Given the description of an element on the screen output the (x, y) to click on. 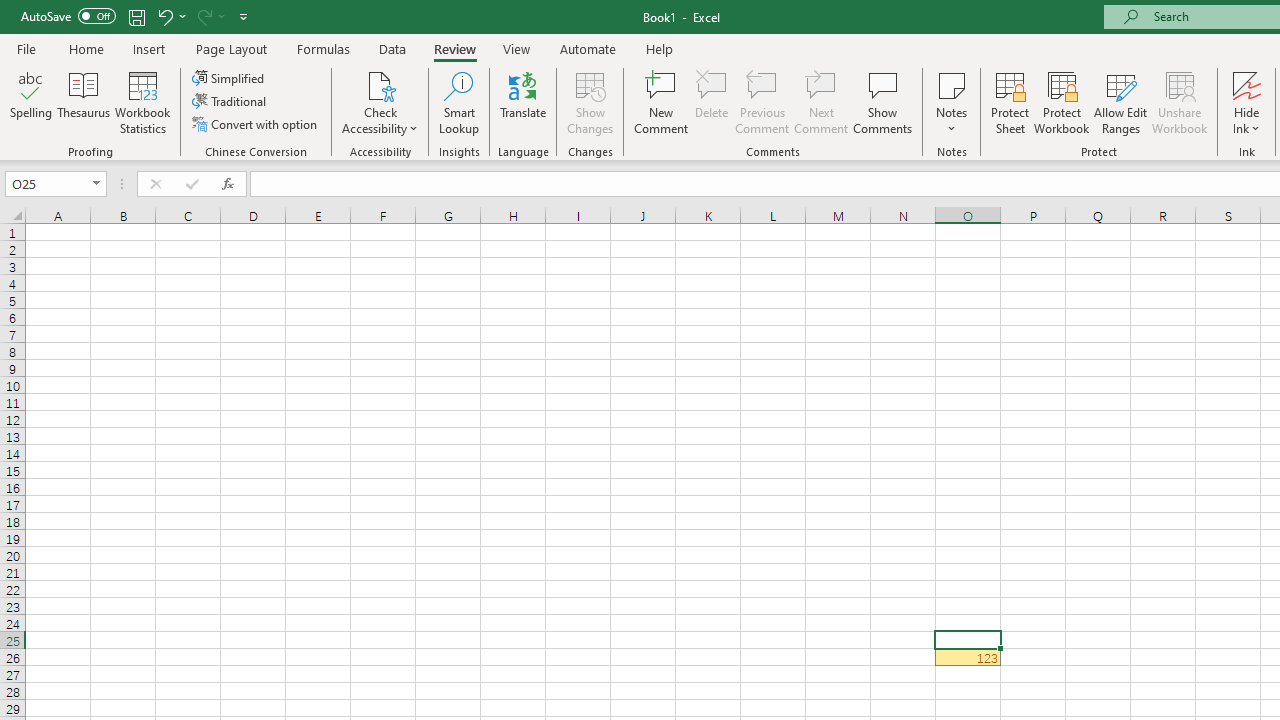
Protect Sheet... (1010, 102)
Protect Workbook... (1061, 102)
Notes (951, 102)
Workbook Statistics (142, 102)
Delete (712, 102)
